Given the description of an element on the screen output the (x, y) to click on. 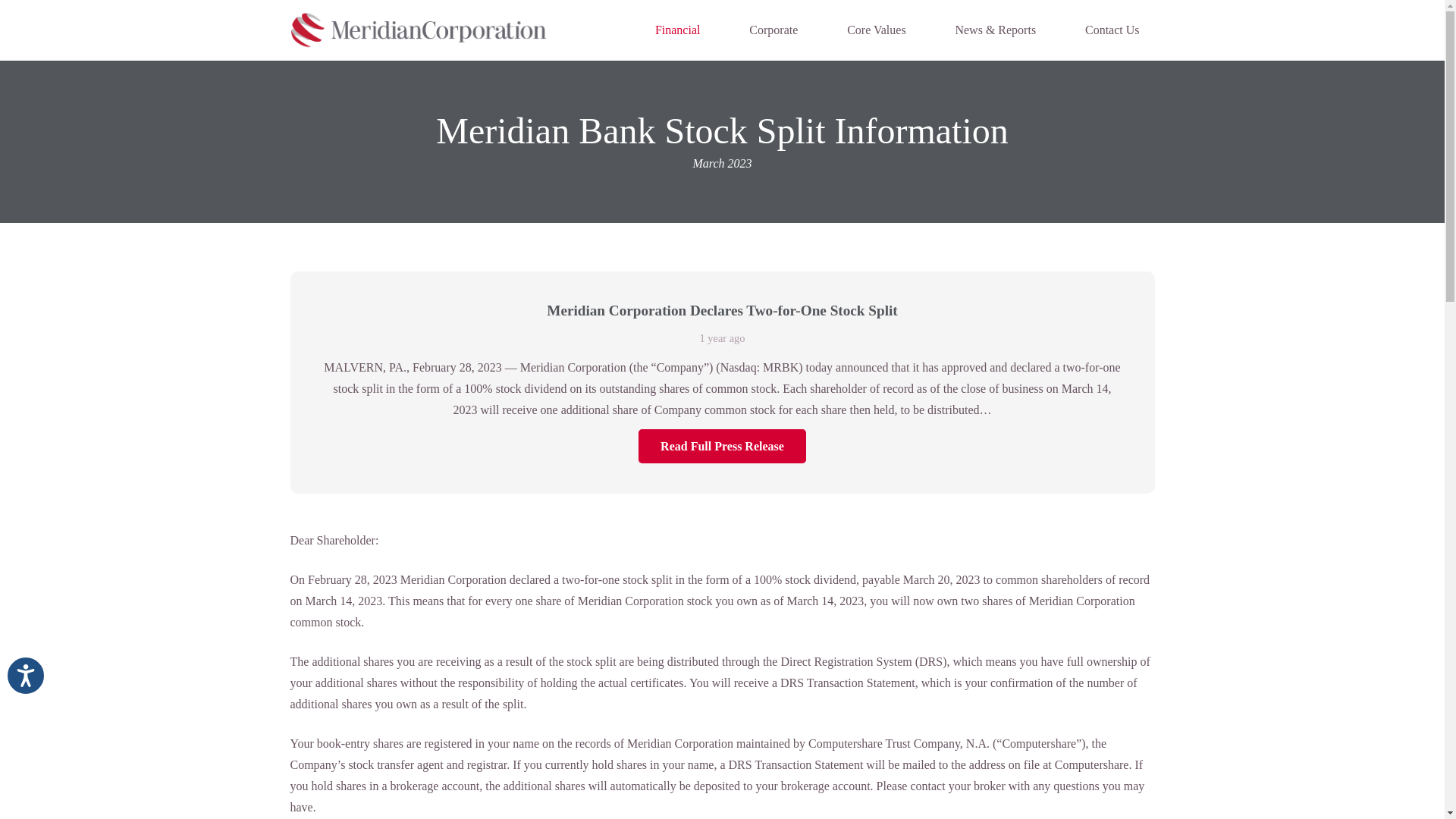
Corporate (772, 30)
Accessibility (39, 689)
Read Full Press Release (722, 446)
Meridian Corporation Declares Two-for-One Stock Split (721, 310)
Contact Us (1112, 30)
Financial (678, 30)
Core Values (875, 30)
